Given the description of an element on the screen output the (x, y) to click on. 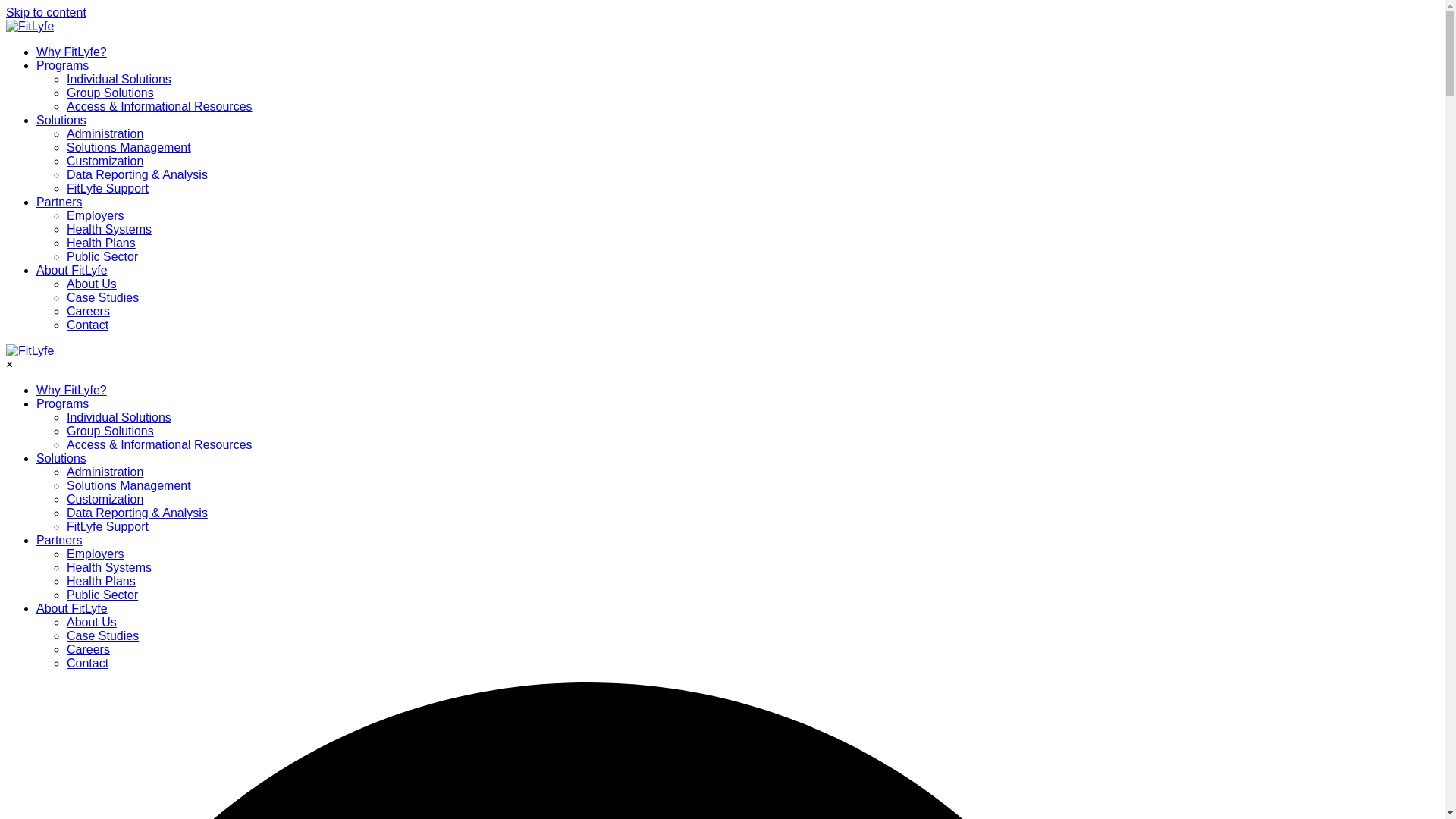
Programs (62, 65)
Solutions Management (128, 485)
Public Sector (102, 256)
Employers (94, 215)
Solutions (60, 119)
Group Solutions (110, 431)
Public Sector (102, 594)
Partners (58, 540)
Careers (88, 310)
Administration (104, 133)
